Given the description of an element on the screen output the (x, y) to click on. 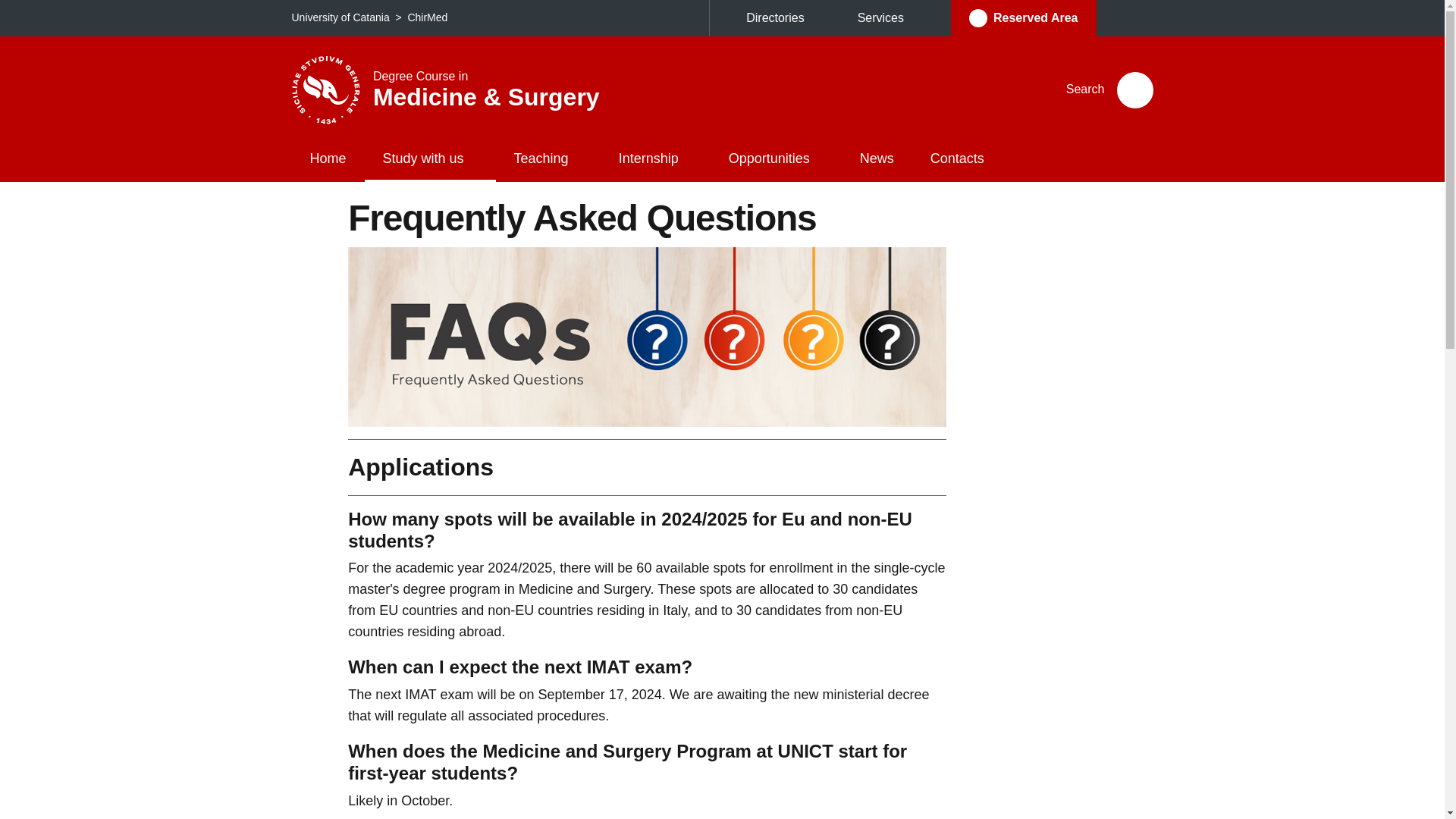
Reserved Area (1023, 18)
Home (327, 159)
Search (1134, 89)
Teaching (547, 159)
Study with us (430, 159)
Internship (654, 159)
ChirMed (426, 17)
Services (889, 18)
Directories (783, 18)
Go to main content (6, 6)
University of Catania (339, 17)
